Given the description of an element on the screen output the (x, y) to click on. 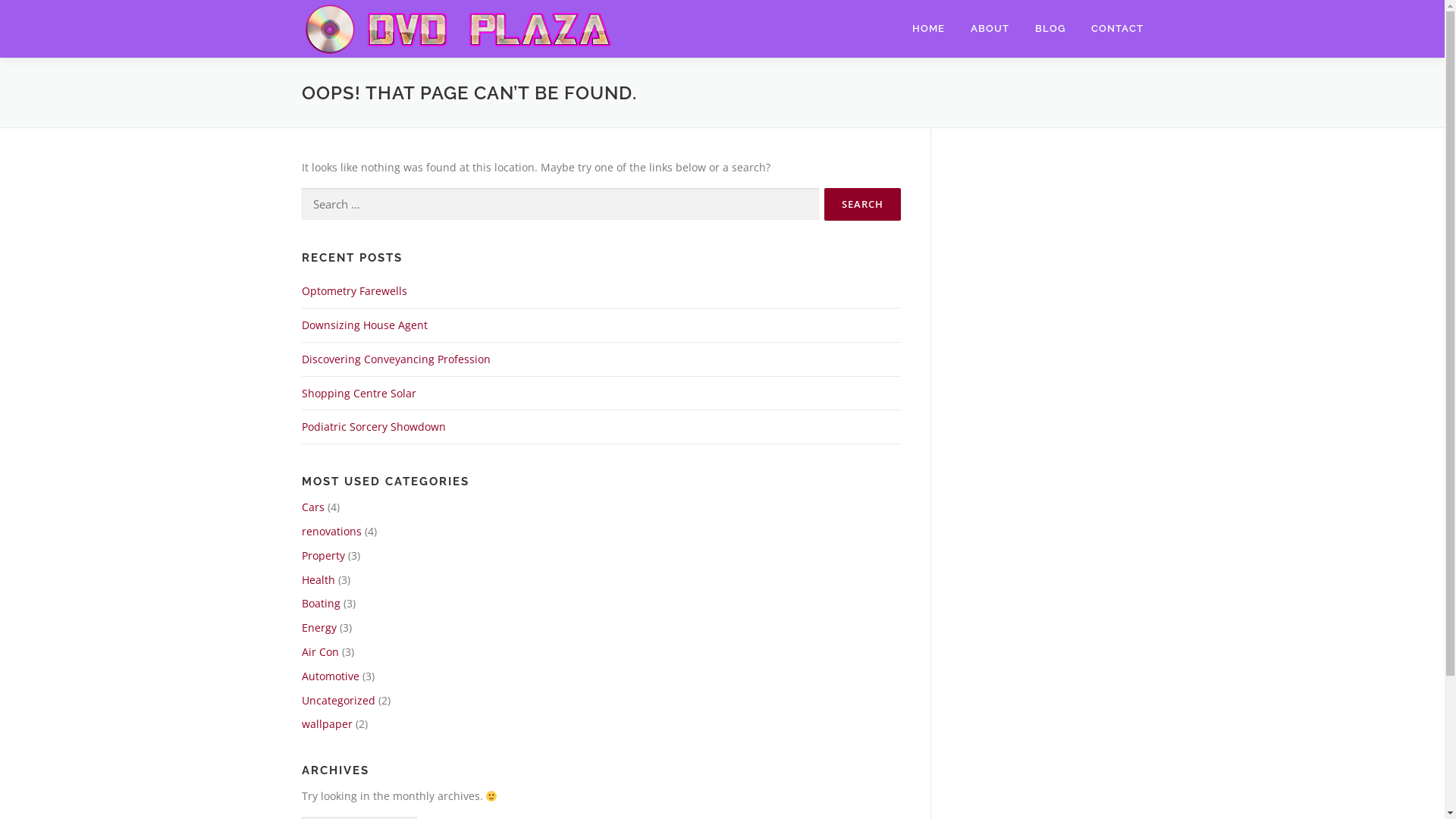
Search Element type: text (861, 204)
HOME Element type: text (928, 28)
Boating Element type: text (320, 603)
CONTACT Element type: text (1110, 28)
Air Con Element type: text (319, 651)
wallpaper Element type: text (326, 723)
Podiatric Sorcery Showdown Element type: text (373, 426)
Automotive Element type: text (330, 675)
renovations Element type: text (331, 531)
Skip to content Element type: text (37, 9)
Property Element type: text (323, 555)
Discovering Conveyancing Profession Element type: text (395, 358)
BLOG Element type: text (1050, 28)
Cars Element type: text (312, 506)
Energy Element type: text (318, 627)
Health Element type: text (318, 579)
Shopping Centre Solar Element type: text (358, 392)
Downsizing House Agent Element type: text (364, 324)
ABOUT Element type: text (989, 28)
Optometry Farewells Element type: text (354, 290)
Uncategorized Element type: text (338, 700)
